Given the description of an element on the screen output the (x, y) to click on. 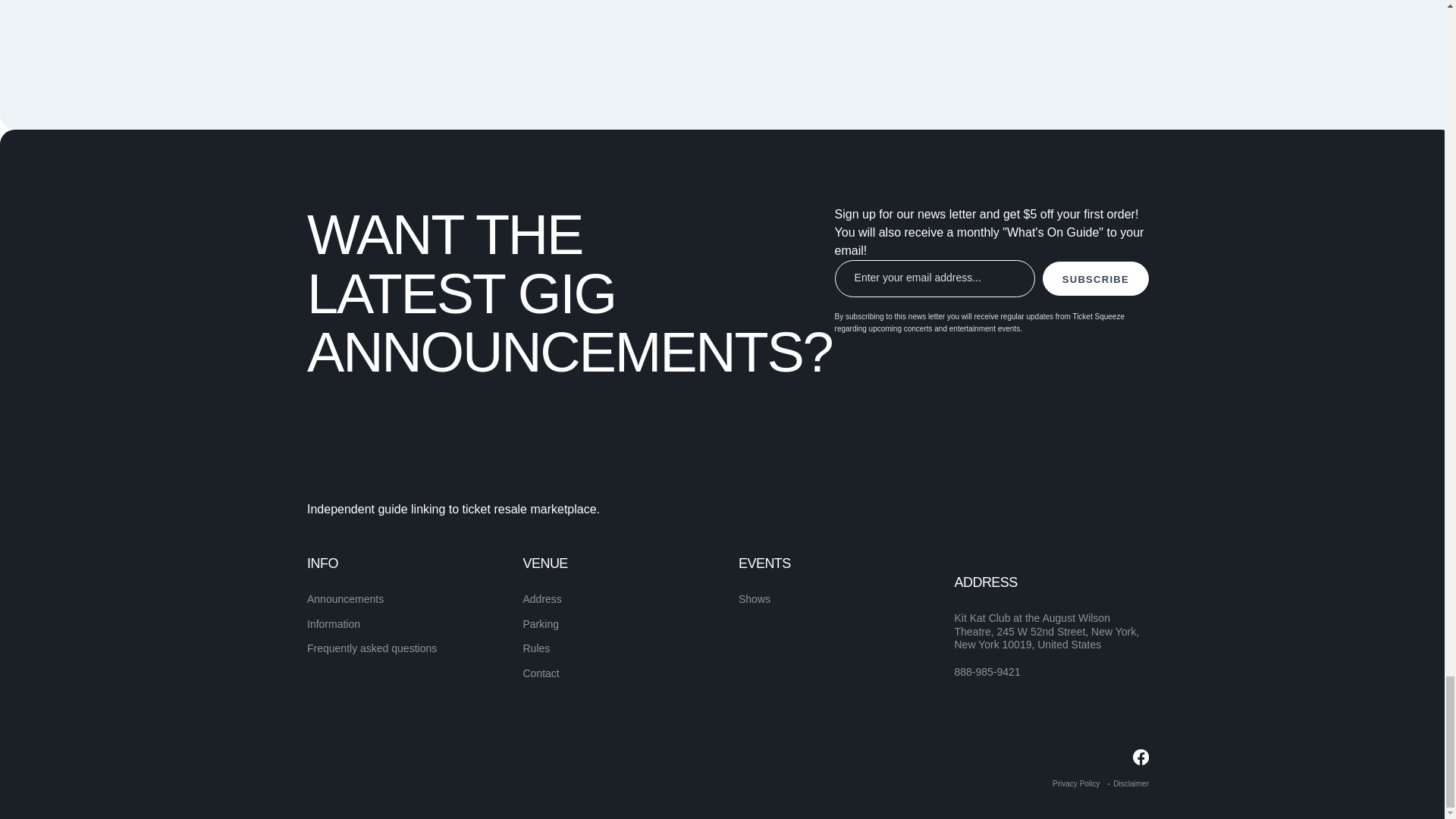
Disclaimer (1130, 783)
Frequently asked questions (371, 648)
Shows (754, 598)
888-985-9421 (986, 672)
Information (333, 623)
Rules (536, 648)
venue map (905, 19)
Parking (540, 623)
Address (542, 598)
SUBSCRIBE (1095, 278)
